Given the description of an element on the screen output the (x, y) to click on. 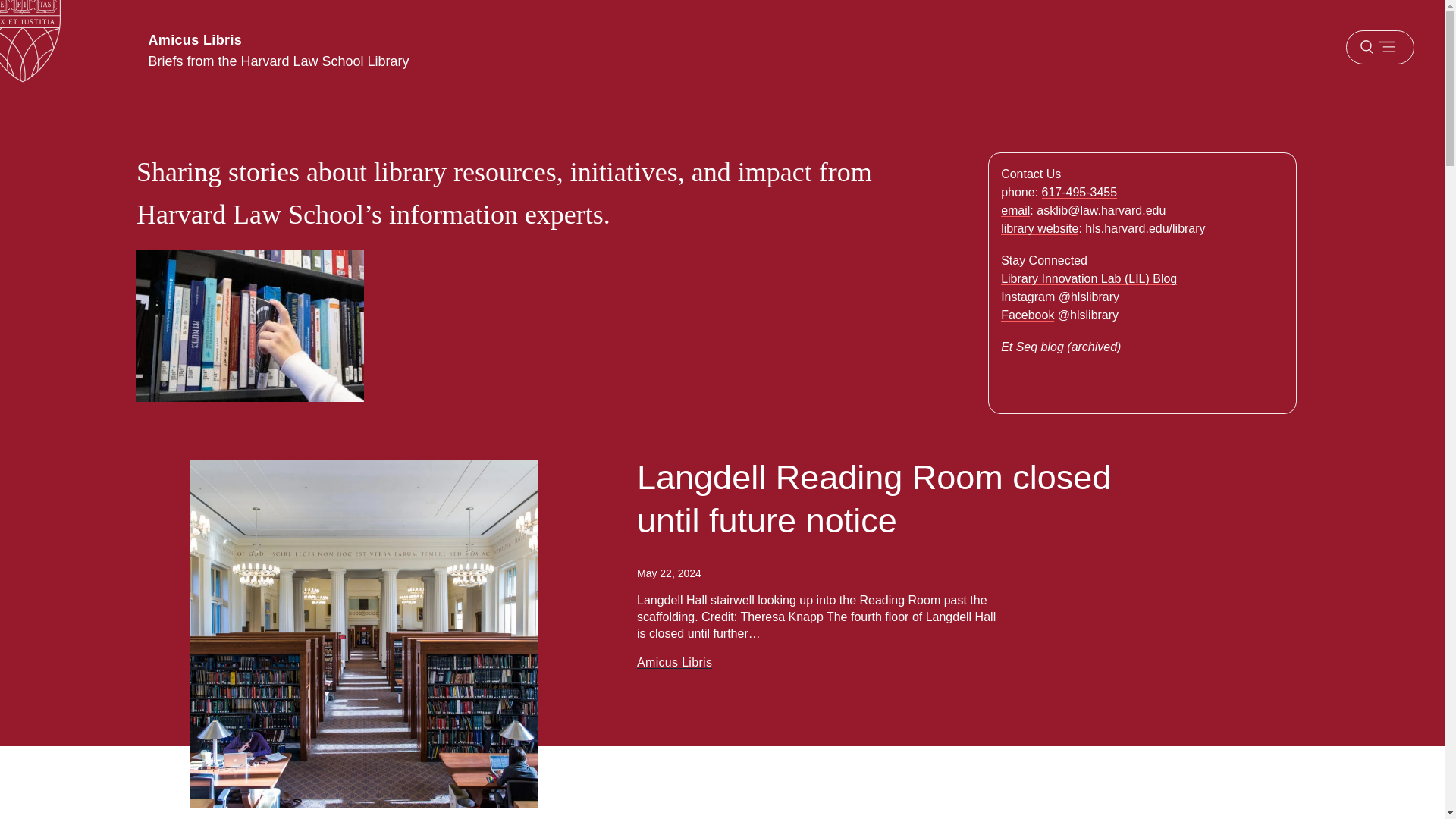
Open menu (1379, 47)
